Given the description of an element on the screen output the (x, y) to click on. 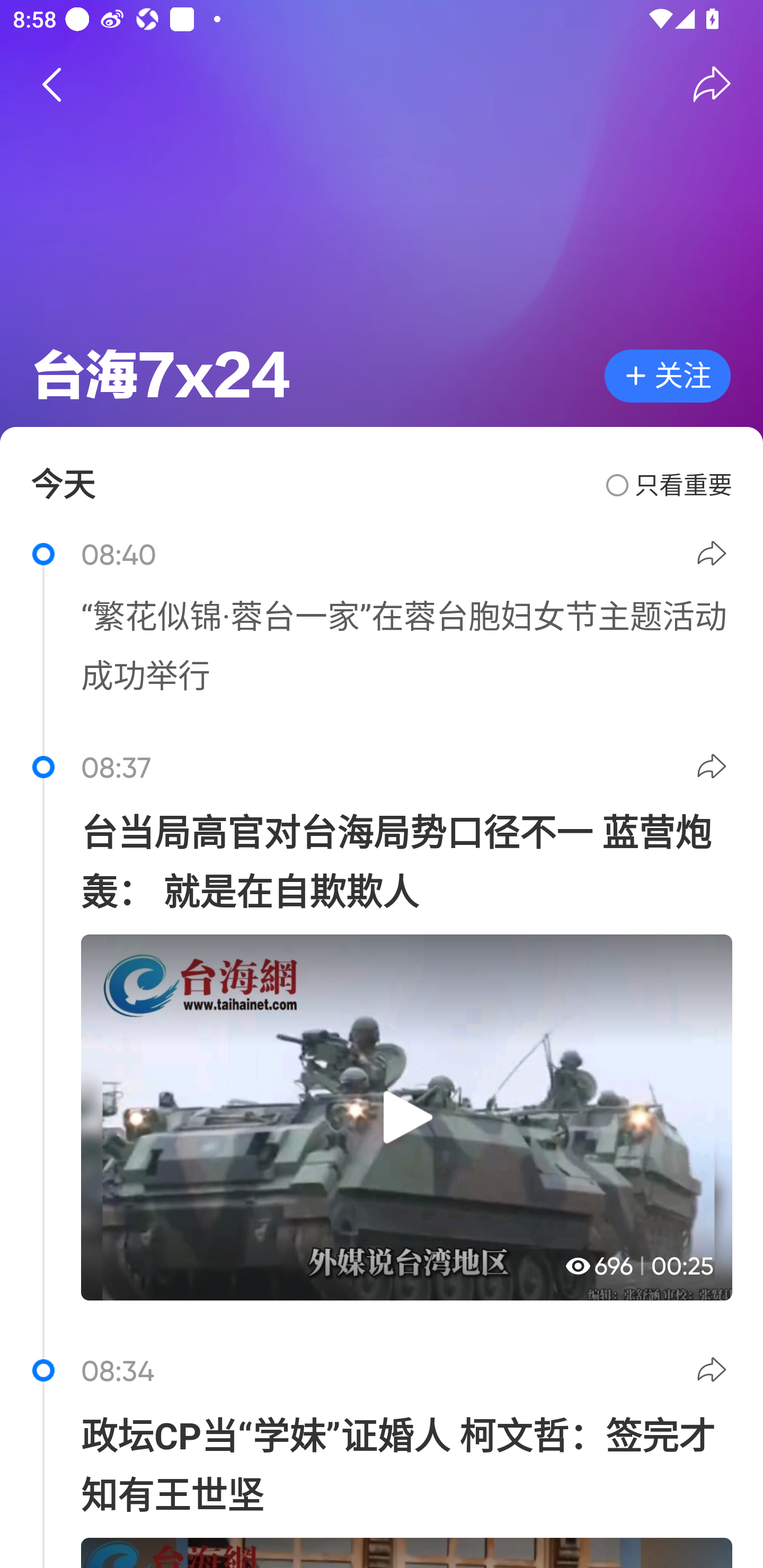
 (50, 83)
 (711, 83)
 关注 (667, 375)
只看重要 (668, 485)
节点 08:40  “繁花似锦·蓉台一家”在蓉台胞妇女节主题活动成功举行 (381, 628)
 (713, 556)
 (713, 769)
节点 08:34  政坛CP当“学妹”证婚人 柯文哲：签完才知有王世坚 (381, 1453)
 (713, 1372)
